Given the description of an element on the screen output the (x, y) to click on. 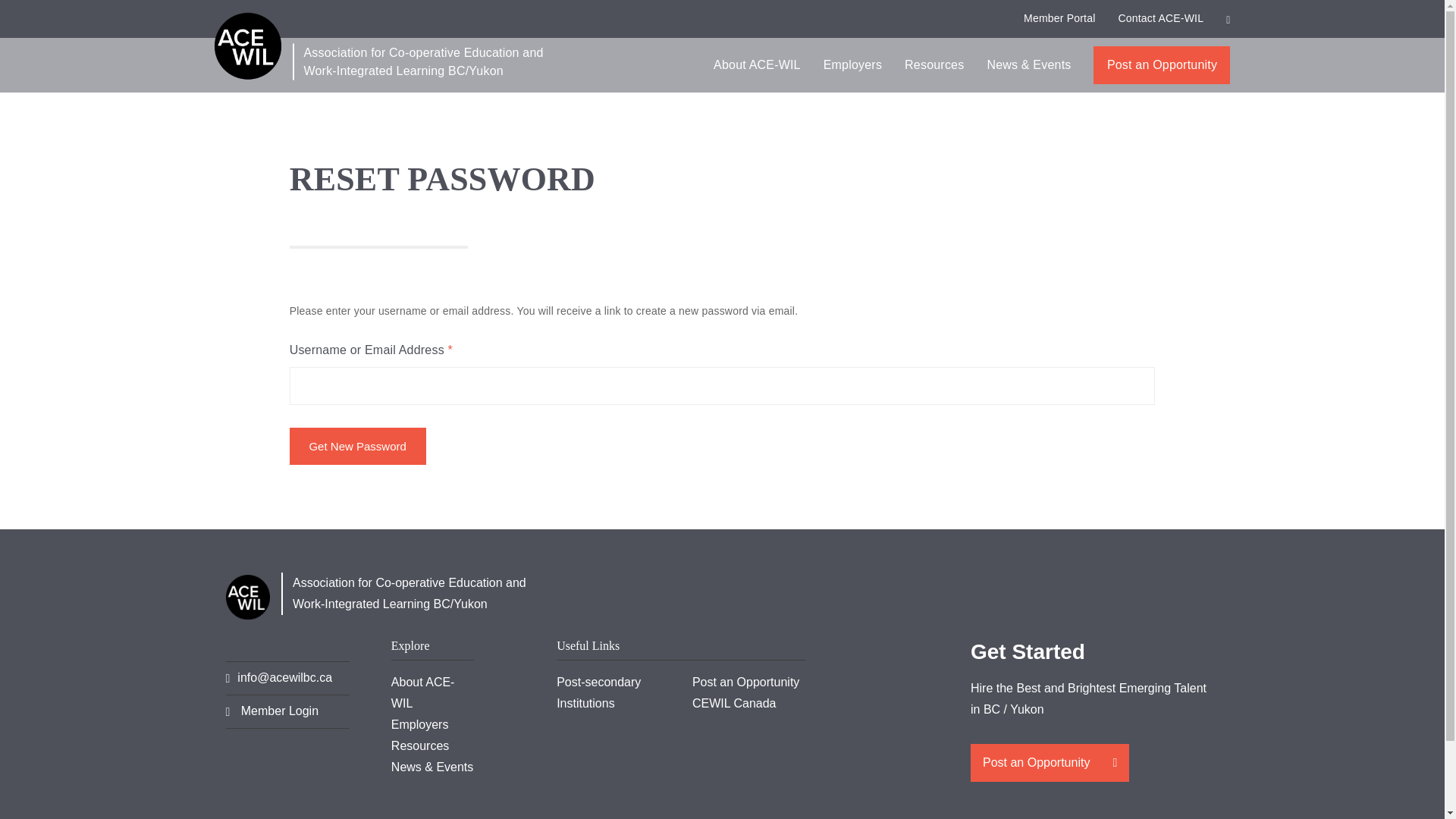
Member Portal (1058, 19)
Get New Password (357, 446)
About ACE-WIL (756, 64)
Contact ACE-WIL (1160, 19)
Member Portal (1058, 19)
About ACE-WIL (756, 64)
Contact ACE-WIL (1160, 19)
Employers (853, 64)
Resources (933, 64)
